Given the description of an element on the screen output the (x, y) to click on. 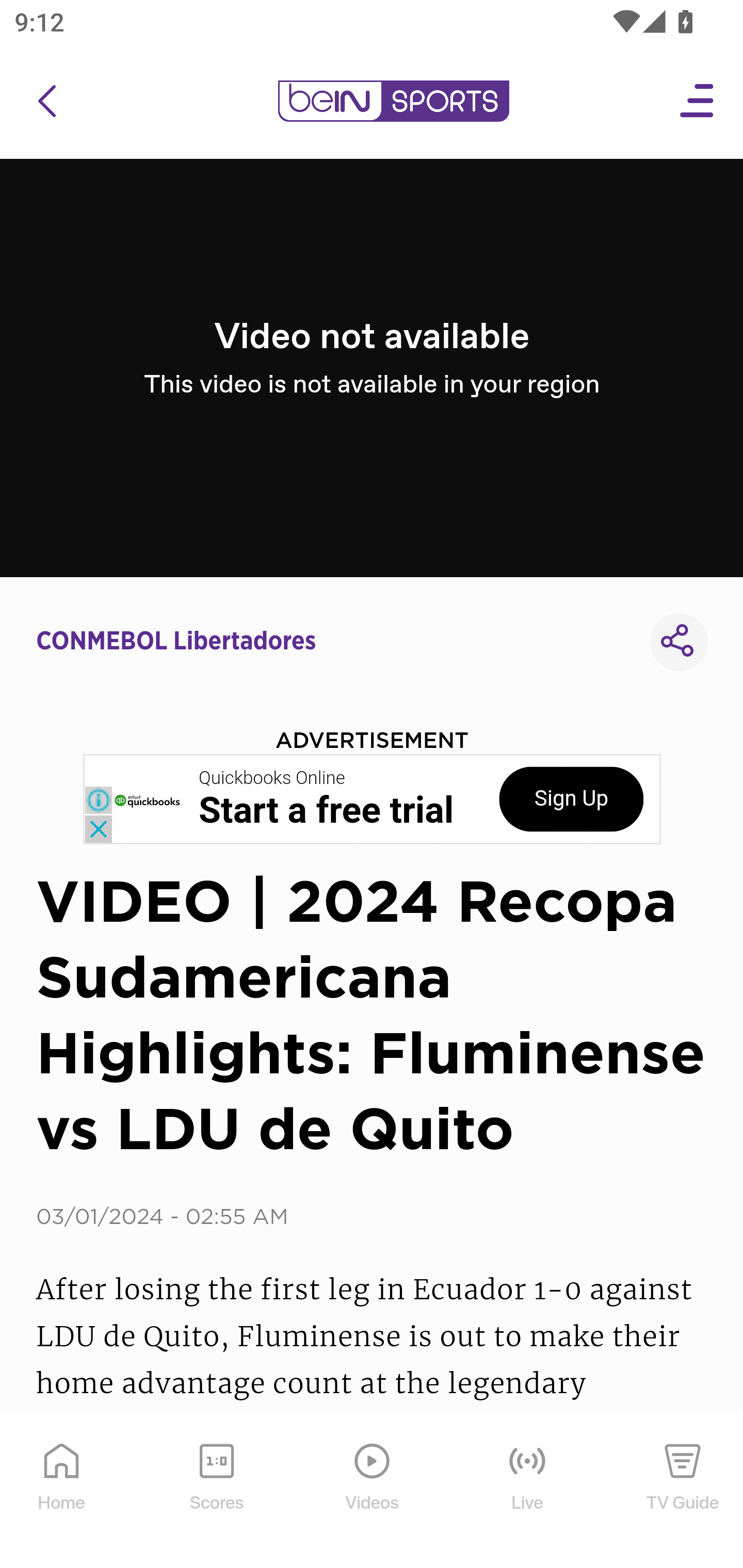
en-us?platform=mobile_android bein logo (392, 101)
icon back (46, 101)
Open Menu Icon (697, 101)
Quickbooks Online (272, 778)
Sign Up (571, 799)
Start a free trial (326, 810)
Home Home Icon Home (61, 1491)
Scores Scores Icon Scores (216, 1491)
Videos Videos Icon Videos (372, 1491)
TV Guide TV Guide Icon TV Guide (682, 1491)
